Given the description of an element on the screen output the (x, y) to click on. 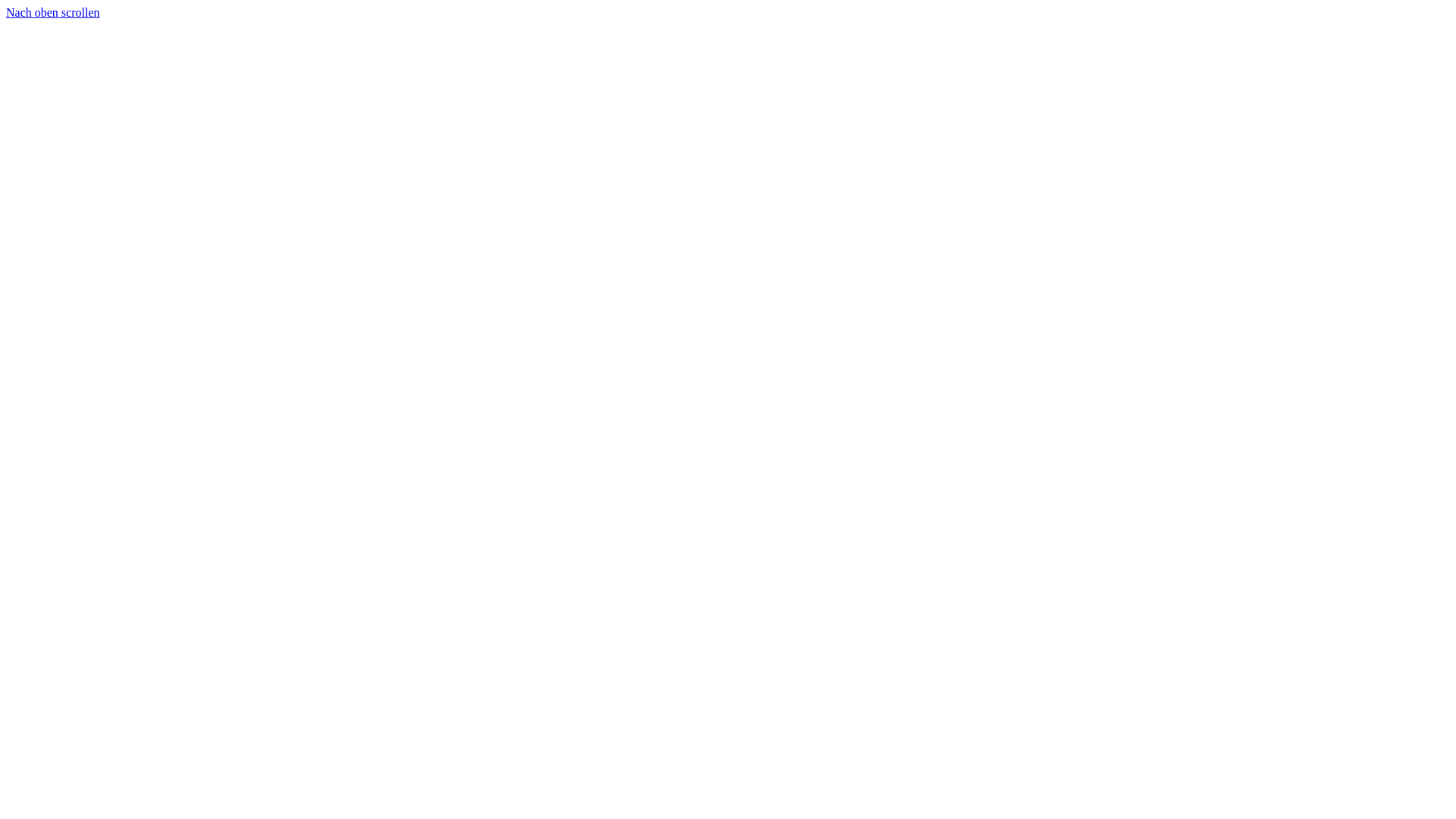
Nach oben scrollen Element type: text (53, 12)
